Given the description of an element on the screen output the (x, y) to click on. 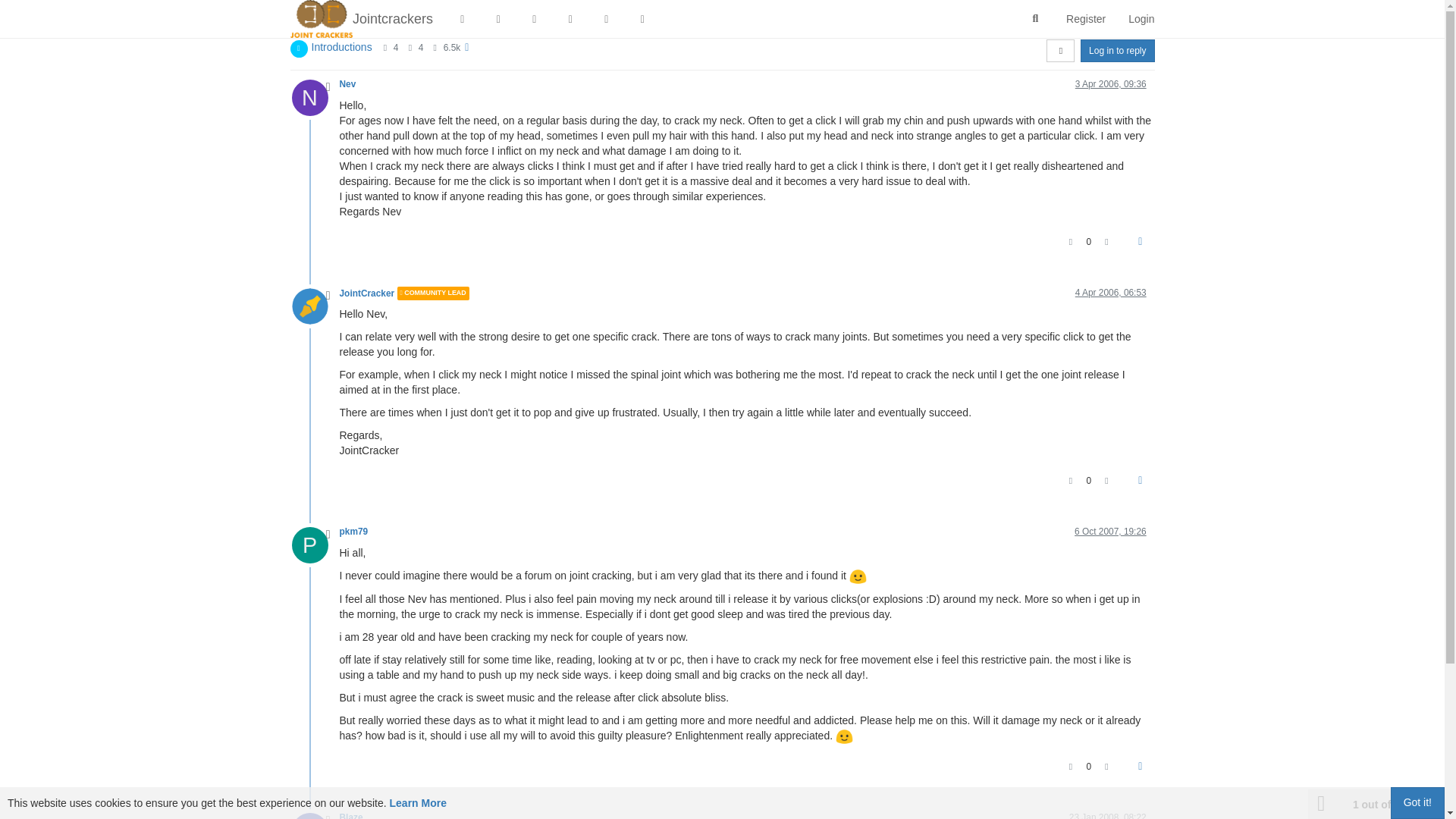
Posts (409, 47)
Register (1085, 18)
Posters (384, 47)
4 (421, 47)
Introductions (341, 46)
Views (435, 47)
4 (395, 47)
Login (1141, 18)
Nev (347, 83)
Search (1035, 18)
Log in to reply (1117, 50)
N (315, 96)
3 Apr 2006, 09:36 (1111, 83)
